Given the description of an element on the screen output the (x, y) to click on. 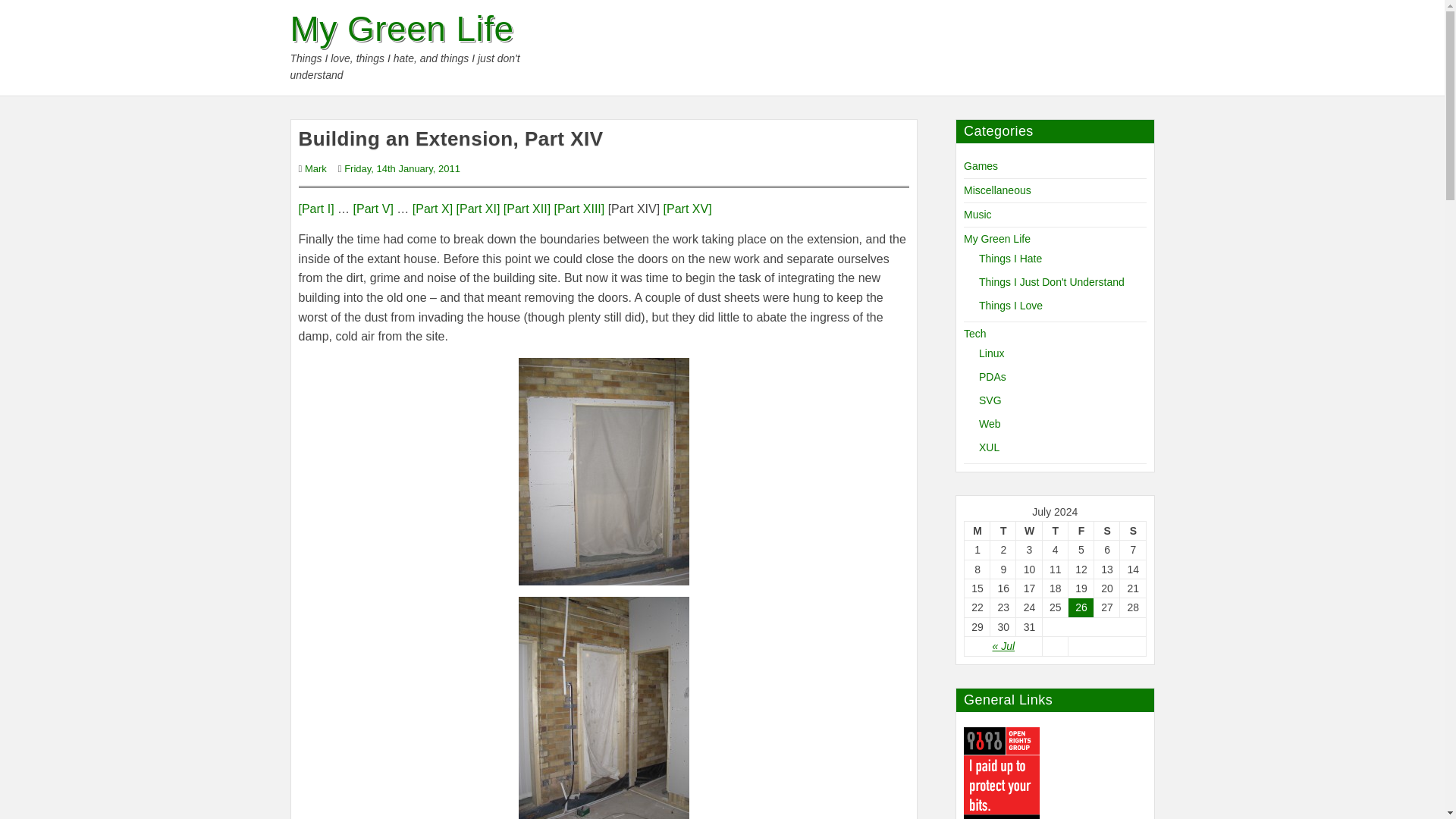
My Green Life (401, 28)
Mark (315, 168)
Miscellaneous (996, 190)
Music (977, 214)
Things I Just Don't Understand (1051, 282)
Things I Hate (1010, 258)
My Green Life (996, 238)
Tech (975, 333)
Things I Love (1010, 305)
Friday, 14th January, 2011 (401, 168)
Games (980, 165)
